Given the description of an element on the screen output the (x, y) to click on. 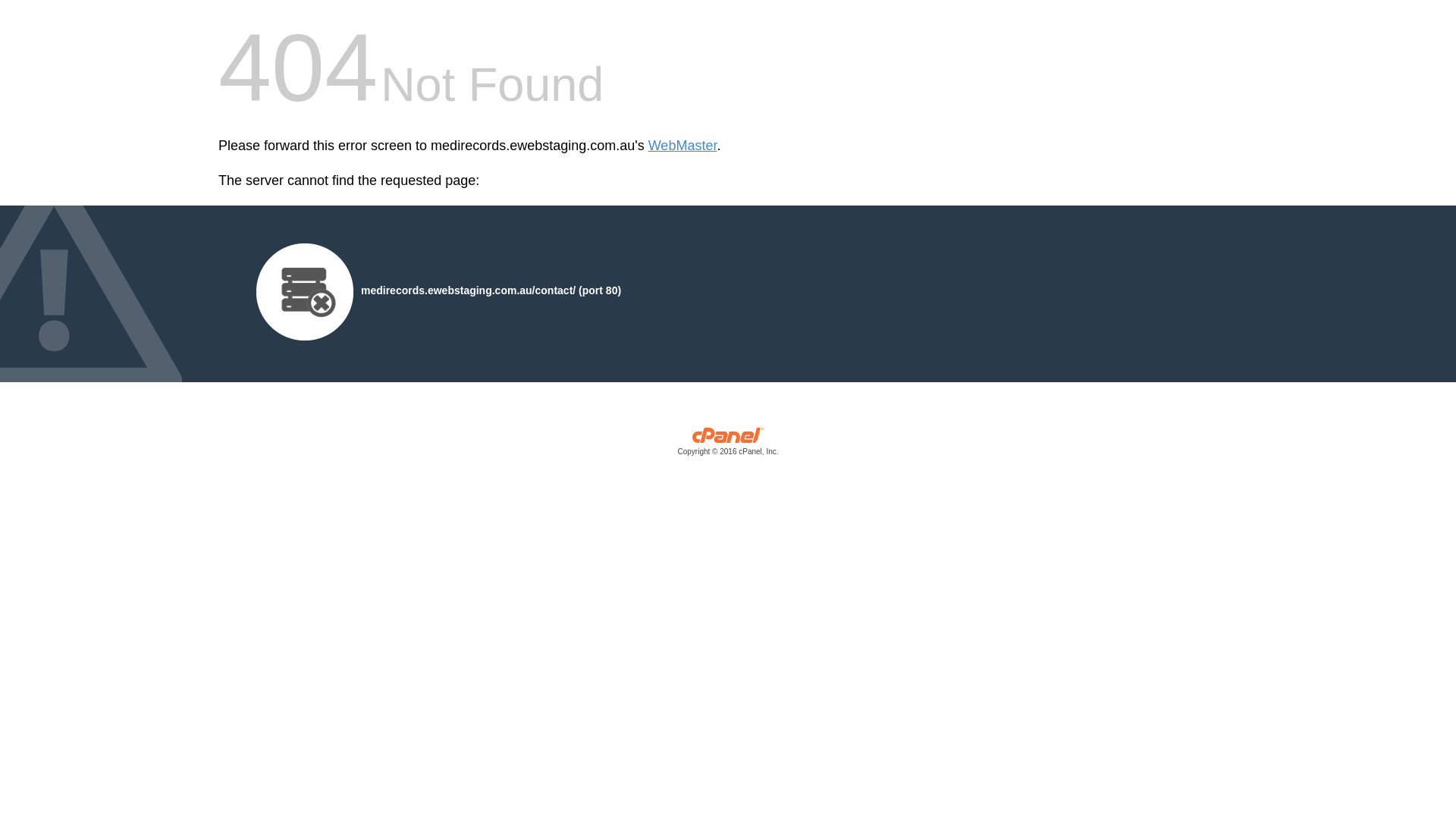
WebMaster Element type: text (682, 145)
